Given the description of an element on the screen output the (x, y) to click on. 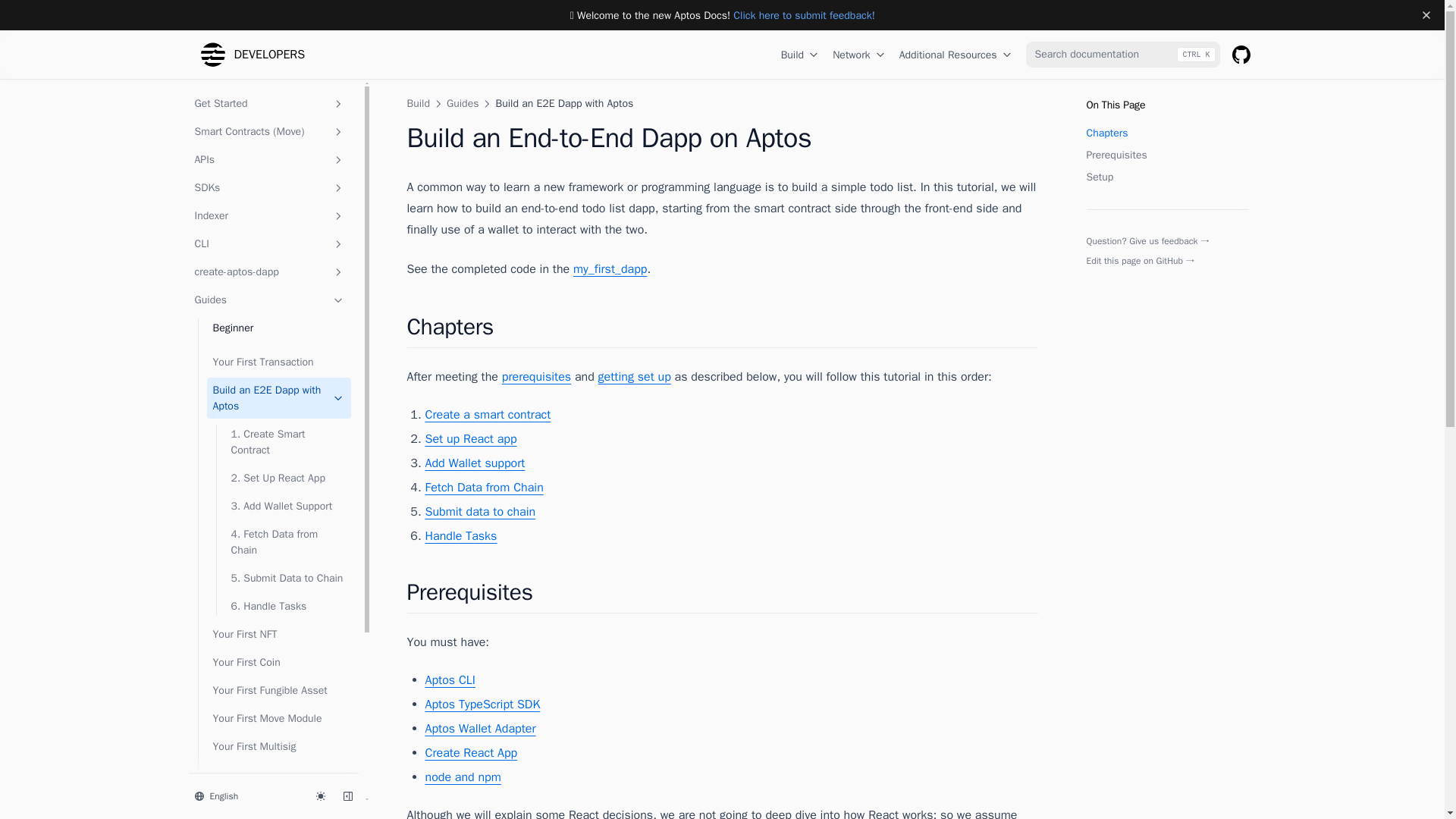
Hide sidebar (347, 795)
Guides (462, 103)
Network (859, 54)
Get Started (268, 103)
Build (417, 103)
Click here to submit feedback! (804, 15)
Chapters (1166, 132)
Prerequisites (1166, 154)
DEVELOPERS (248, 54)
Aptos Docs: Aptos Docs (252, 54)
Additional Resources (956, 54)
Change language (244, 795)
Build (800, 54)
Change theme (319, 795)
Setup (1166, 176)
